Given the description of an element on the screen output the (x, y) to click on. 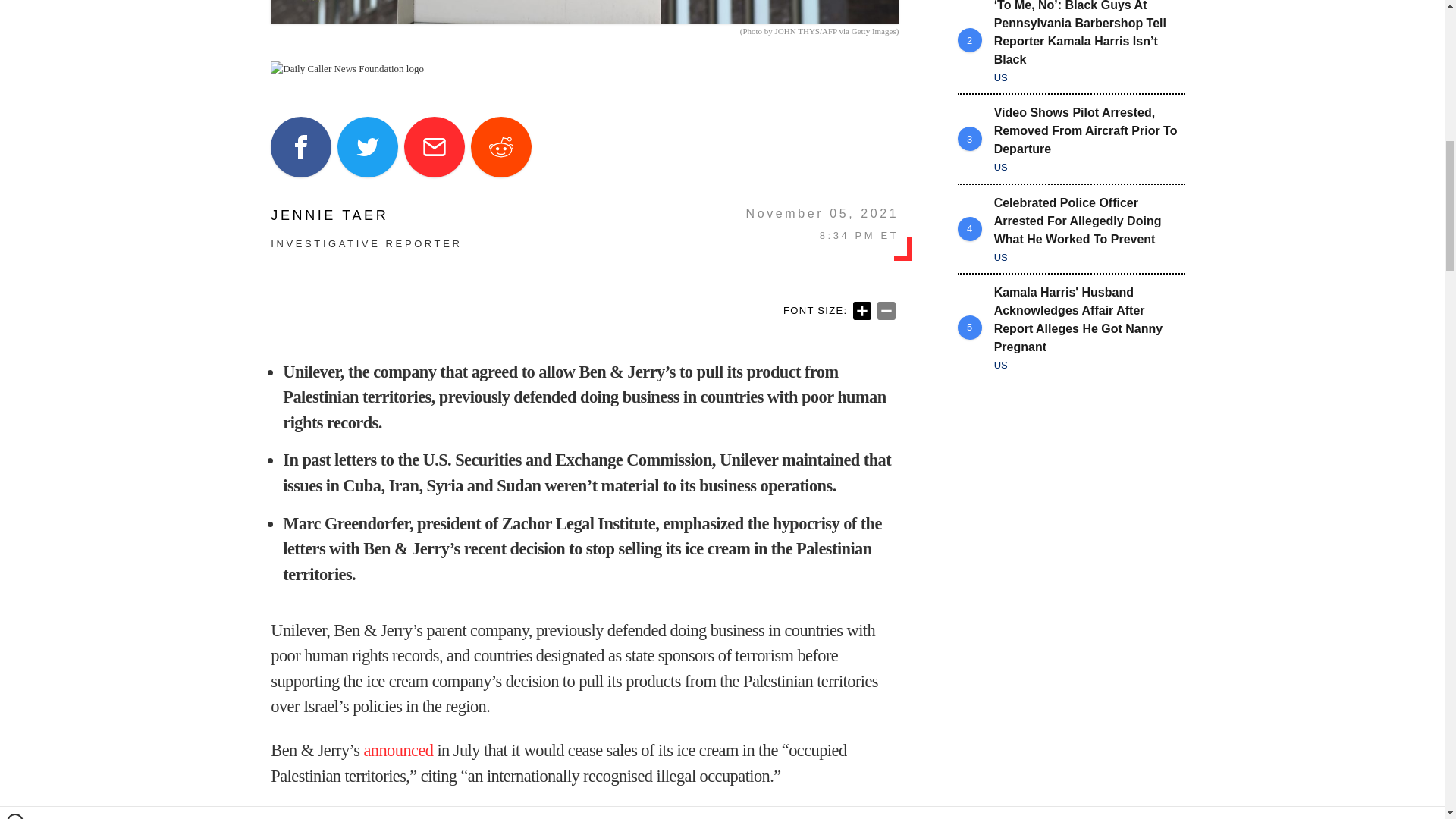
View More Articles By Jennie Taer (365, 215)
saying (577, 814)
JENNIE TAER (365, 215)
NETHERLANDS-AGRICULTURE-ALIMENTATION-DISTRIBUTION-UNILEVER (584, 11)
Close window (14, 6)
announced (397, 750)
